Given the description of an element on the screen output the (x, y) to click on. 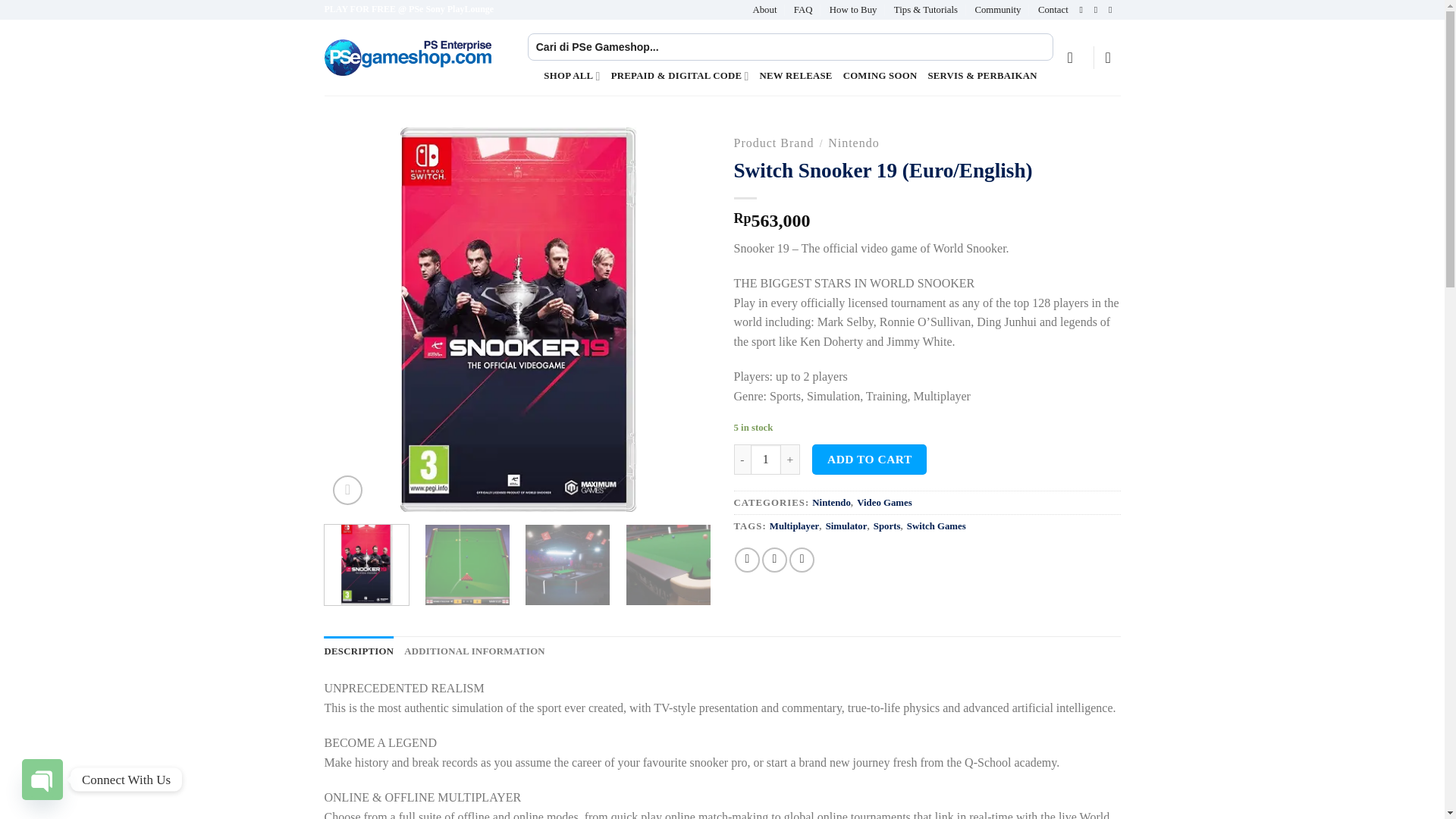
Contact (1053, 9)
Share on Twitter (774, 559)
Share on Facebook (747, 559)
Community (997, 9)
Zoom (347, 490)
1 (765, 459)
About (764, 9)
How to Buy (853, 9)
FAQ (802, 9)
SHOP ALL (571, 75)
